Given the description of an element on the screen output the (x, y) to click on. 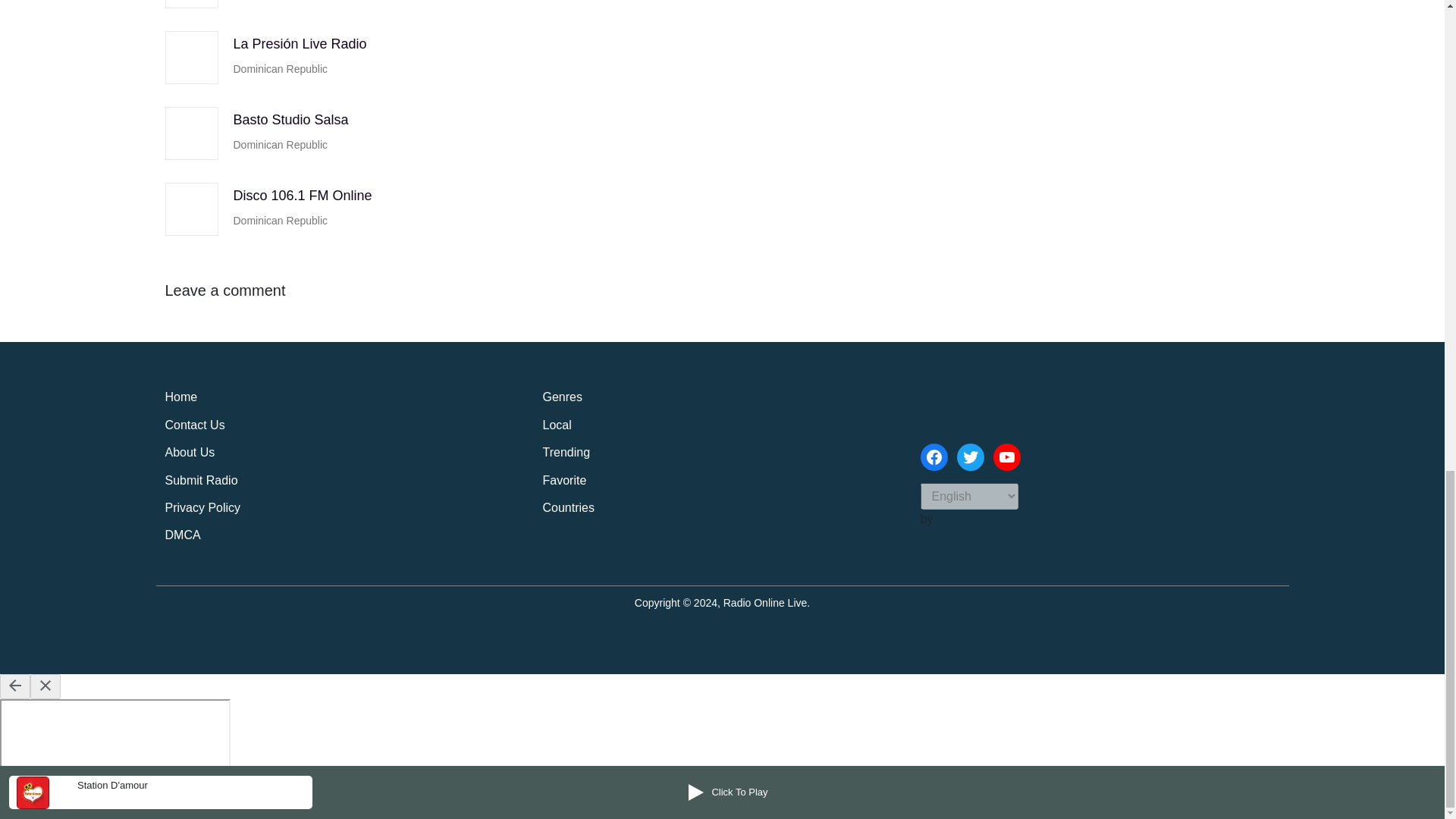
Dominican Republic (280, 144)
Dominican Republic (280, 1)
Basto Studio Salsa (290, 120)
Dominican Republic (280, 68)
Transposh - translation plugin for wordpress (942, 520)
